Given the description of an element on the screen output the (x, y) to click on. 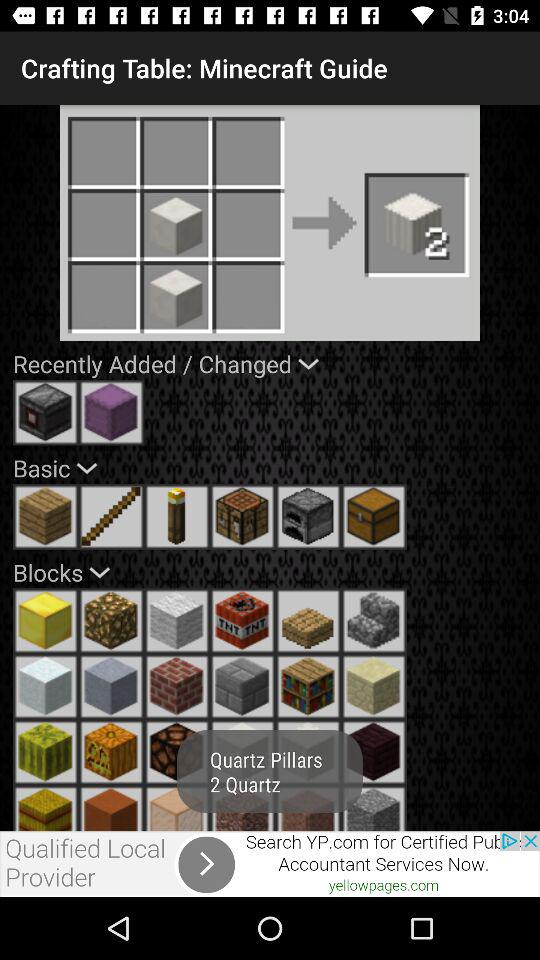
pick this block (242, 808)
